Given the description of an element on the screen output the (x, y) to click on. 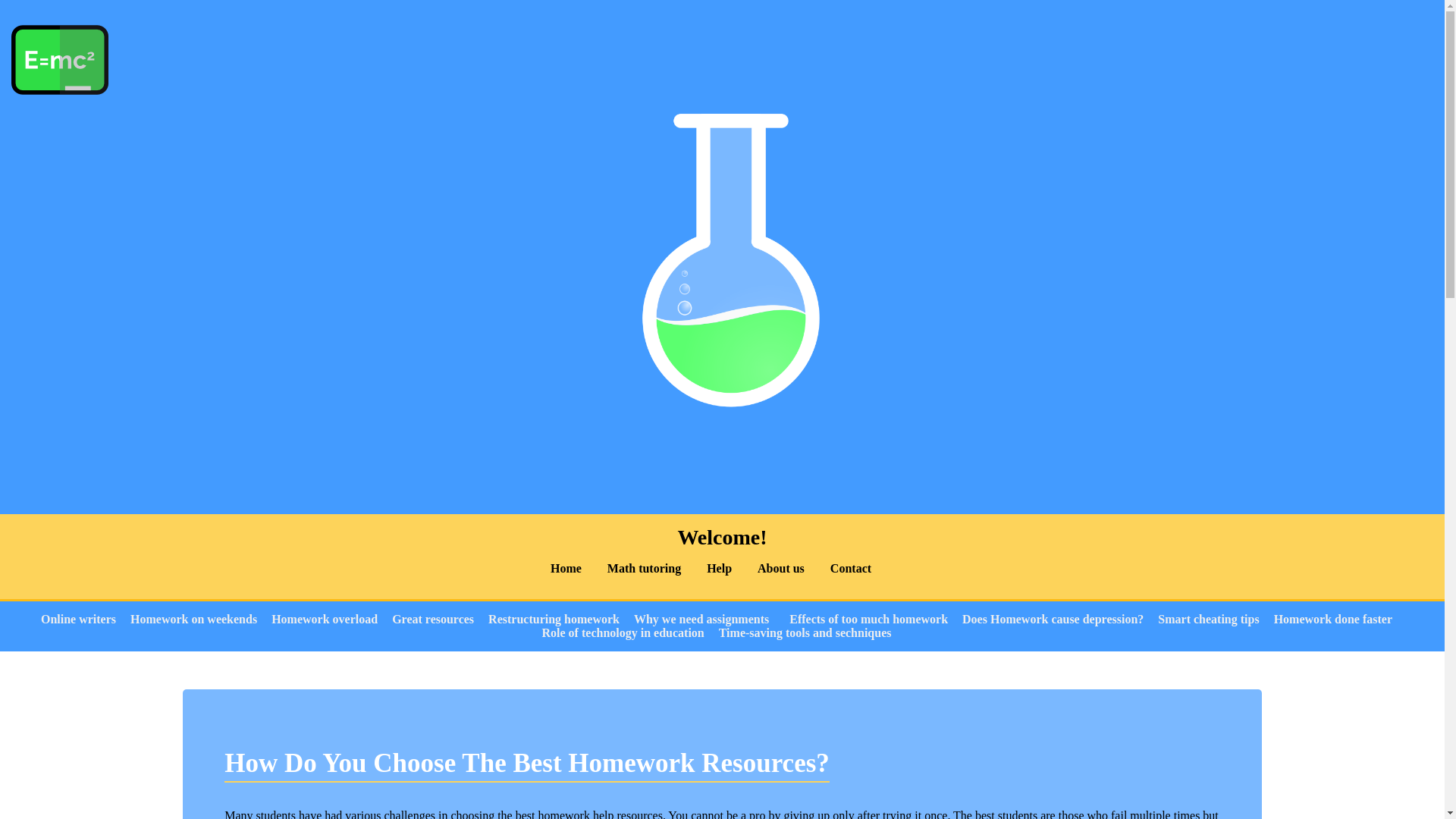
Help (719, 567)
Effects of too much homework (868, 618)
Restructuring homework (553, 618)
Home (565, 567)
Why we need assignments (700, 618)
Homework done faster (1332, 618)
Smart cheating tips (1208, 618)
Does Homework cause depression? (1052, 618)
Math tutoring (644, 567)
Homework on weekends (194, 618)
